Given the description of an element on the screen output the (x, y) to click on. 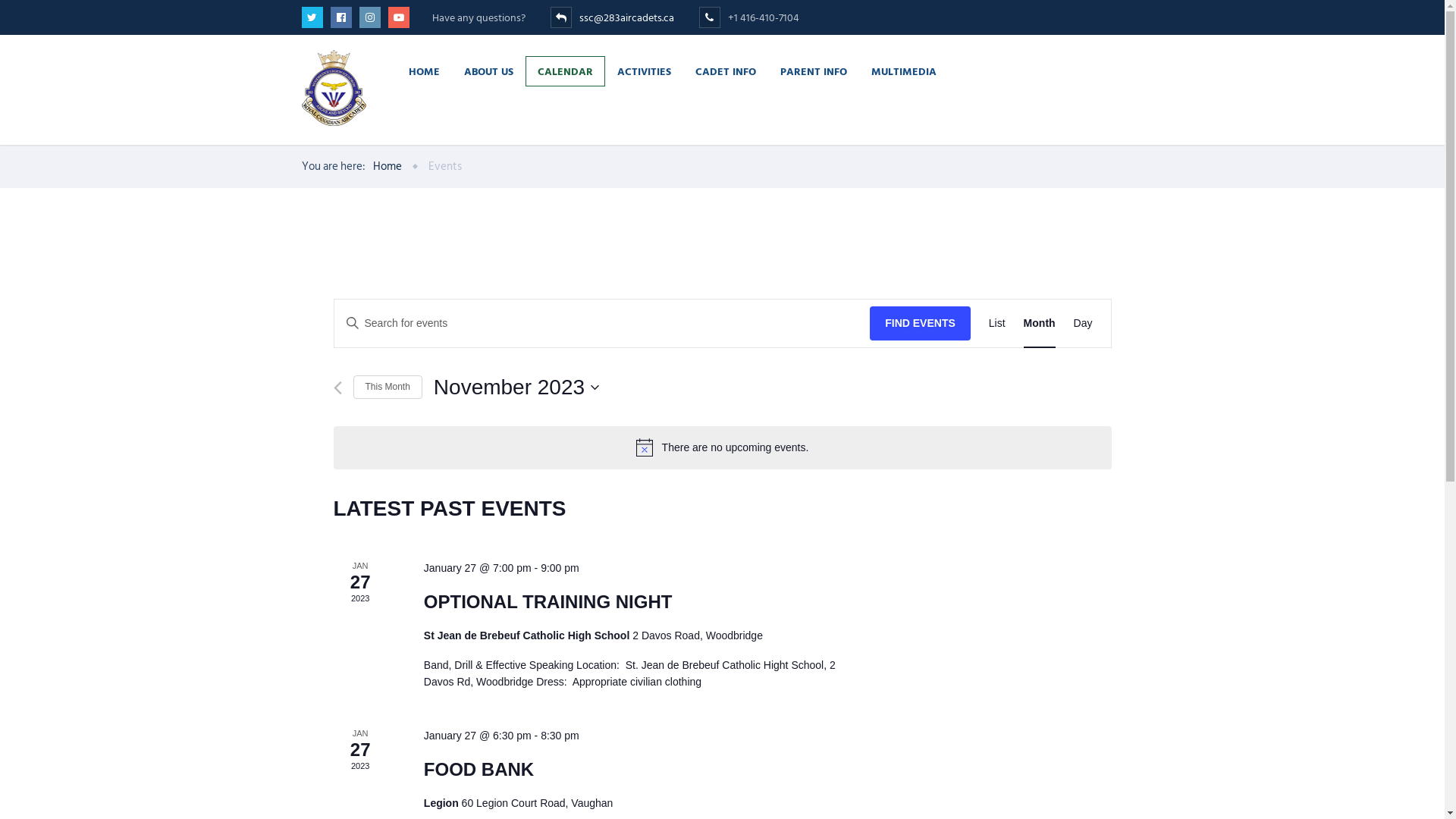
ABOUT US Element type: text (488, 71)
CADET INFO Element type: text (724, 71)
CALENDAR Element type: text (564, 71)
Day Element type: text (1082, 323)
November 2023 Element type: text (516, 387)
HOME Element type: text (423, 71)
FIND EVENTS Element type: text (919, 323)
PARENT INFO Element type: text (812, 71)
This Month Element type: text (387, 386)
OPTIONAL TRAINING NIGHT Element type: text (547, 601)
Previous month Element type: hover (337, 387)
FOOD BANK Element type: text (478, 769)
ACTIVITIES Element type: text (644, 71)
Month Element type: text (1039, 323)
ssc@283aircadets.ca Element type: text (627, 17)
Home Element type: text (387, 165)
MULTIMEDIA Element type: text (902, 71)
List Element type: text (996, 323)
